Given the description of an element on the screen output the (x, y) to click on. 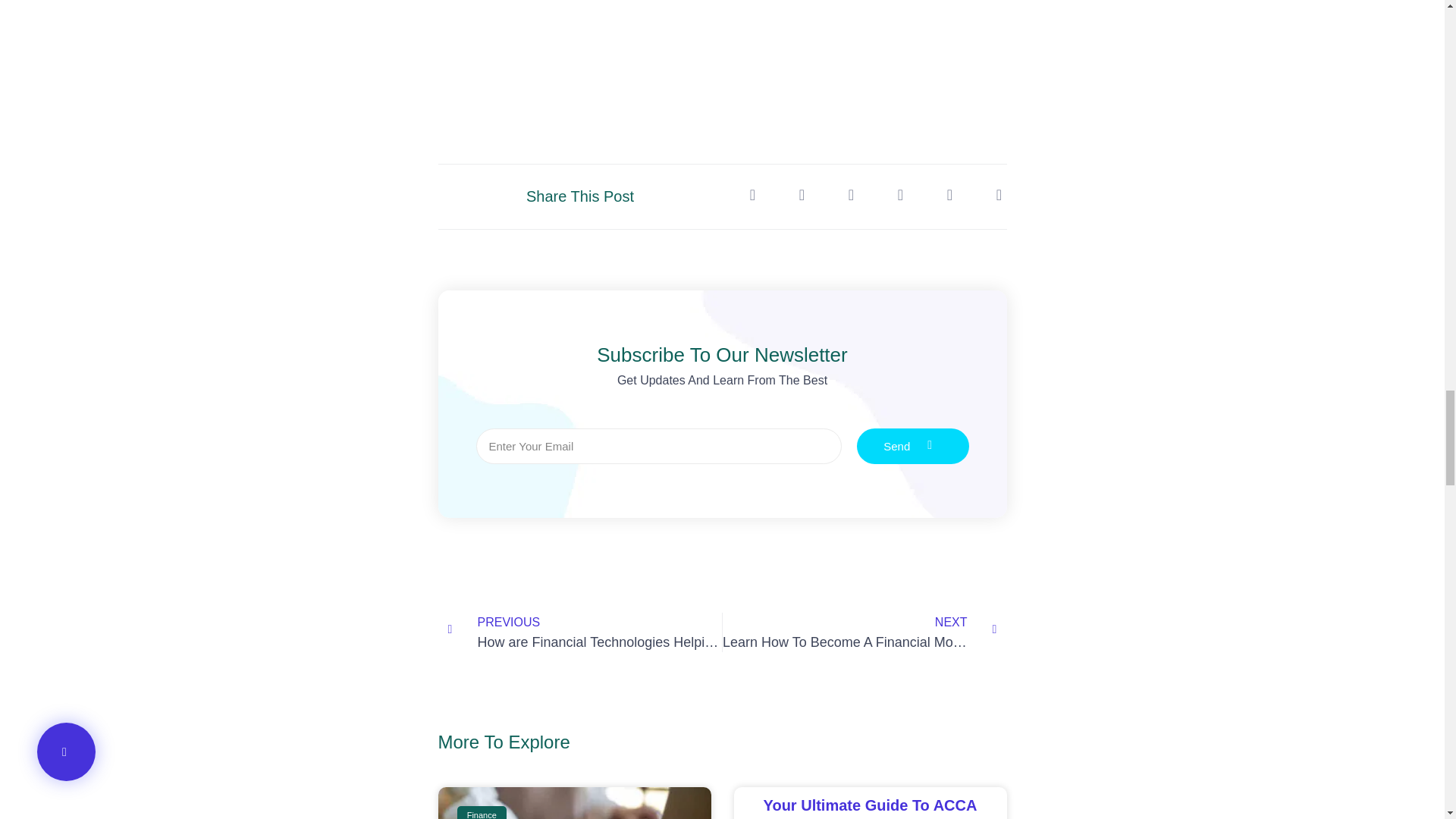
Send (913, 446)
